Given the description of an element on the screen output the (x, y) to click on. 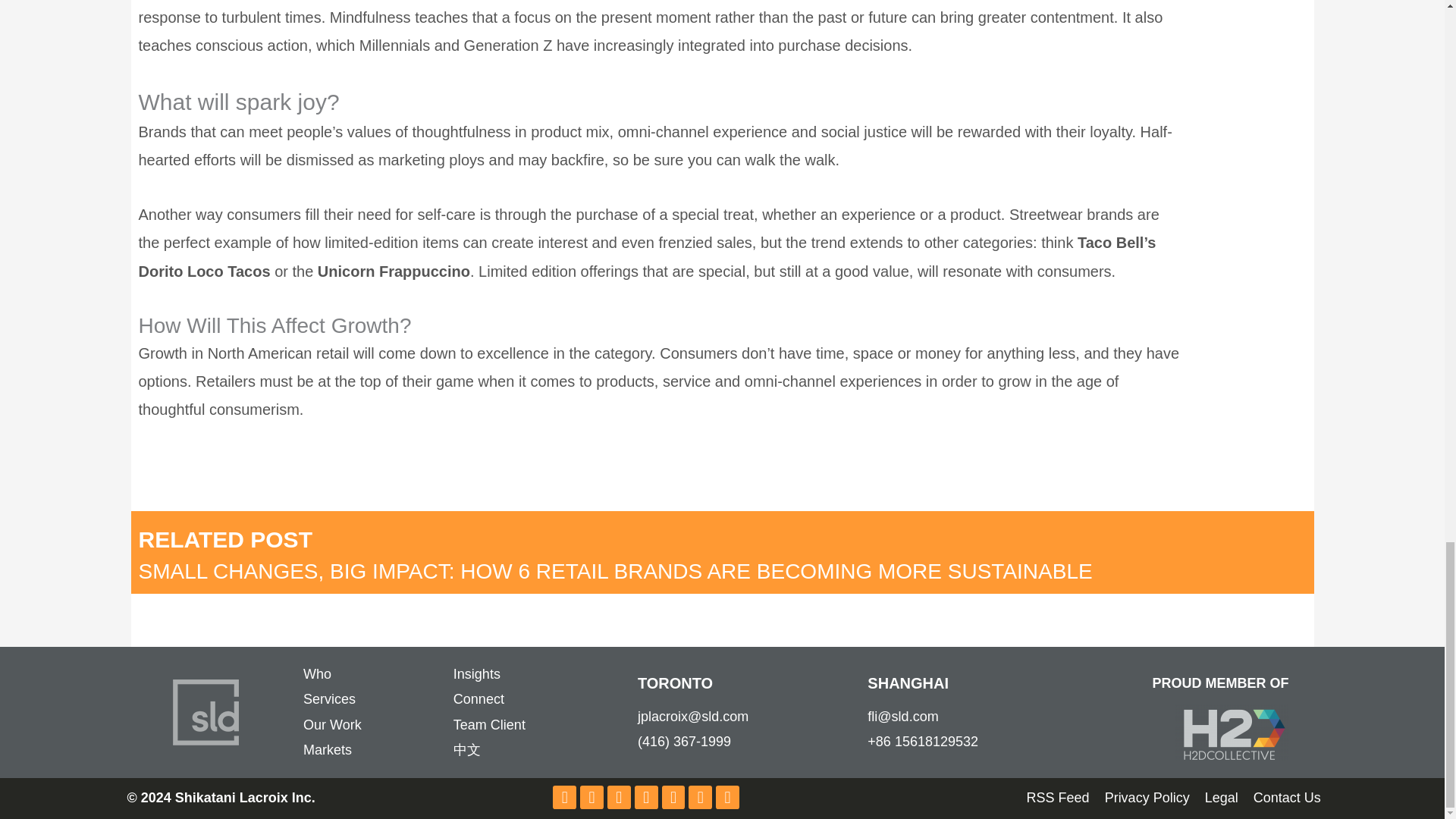
Screen Shot 2021-09-16 at 10.43.10 AM (1231, 732)
